Given the description of an element on the screen output the (x, y) to click on. 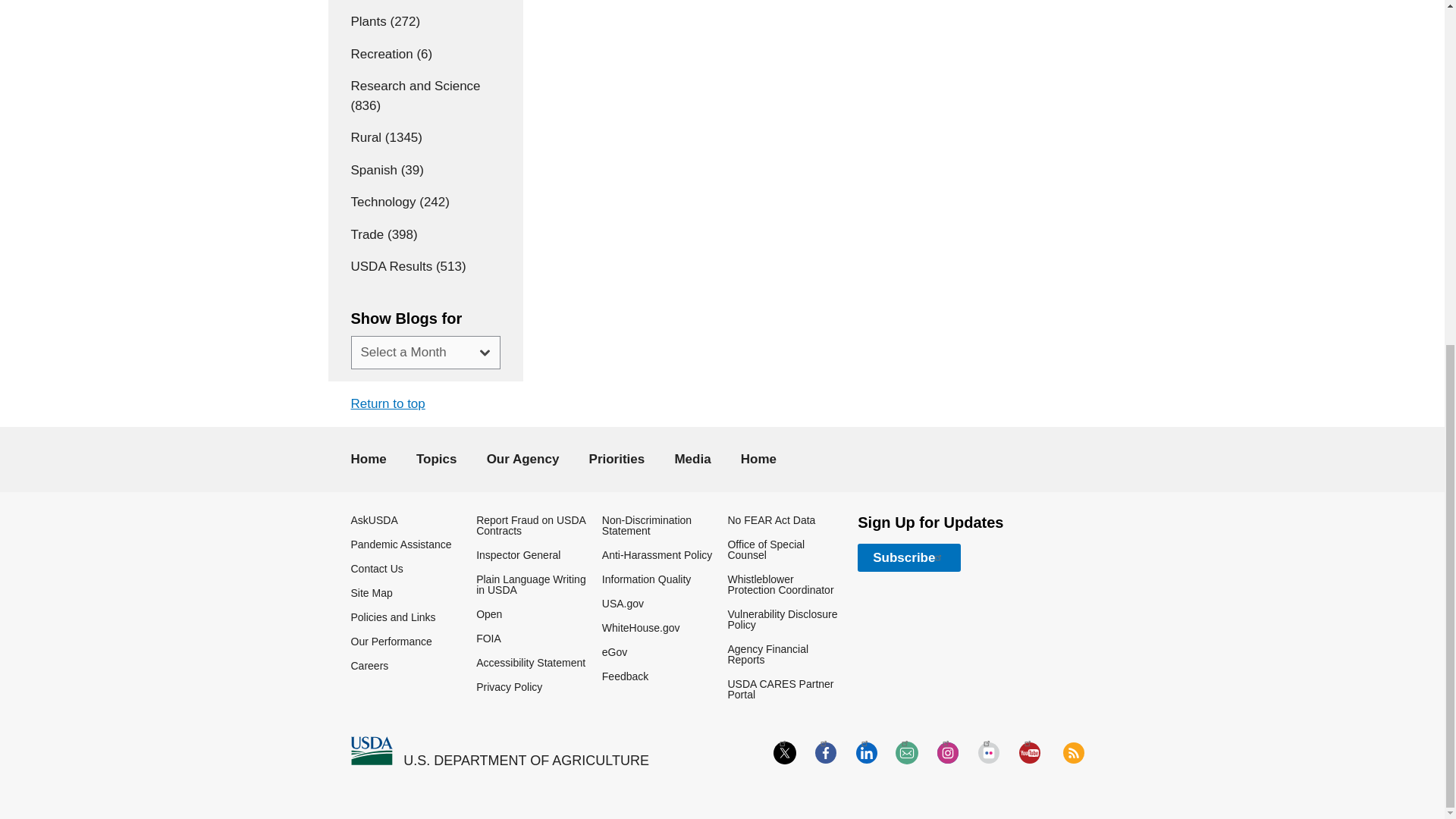
Home (526, 760)
Home (370, 751)
